Given the description of an element on the screen output the (x, y) to click on. 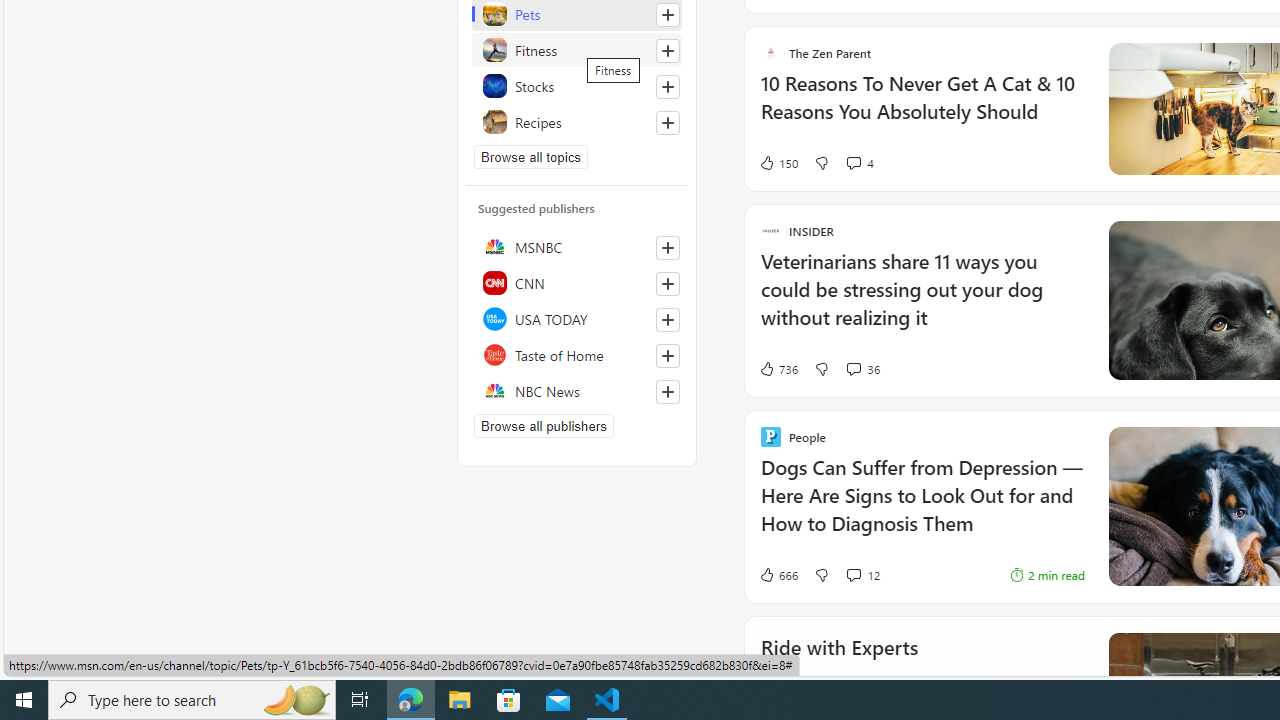
Recipes (577, 121)
Fitness (577, 49)
View comments 36 Comment (852, 368)
MSNBC (577, 246)
View comments 12 Comment (852, 575)
Follow this source (667, 391)
Ride with Experts (838, 674)
Browse all publishers (543, 425)
Taste of Home (577, 354)
736 Like (778, 368)
Follow this topic (667, 122)
Stocks (577, 85)
USA TODAY (577, 318)
